Given the description of an element on the screen output the (x, y) to click on. 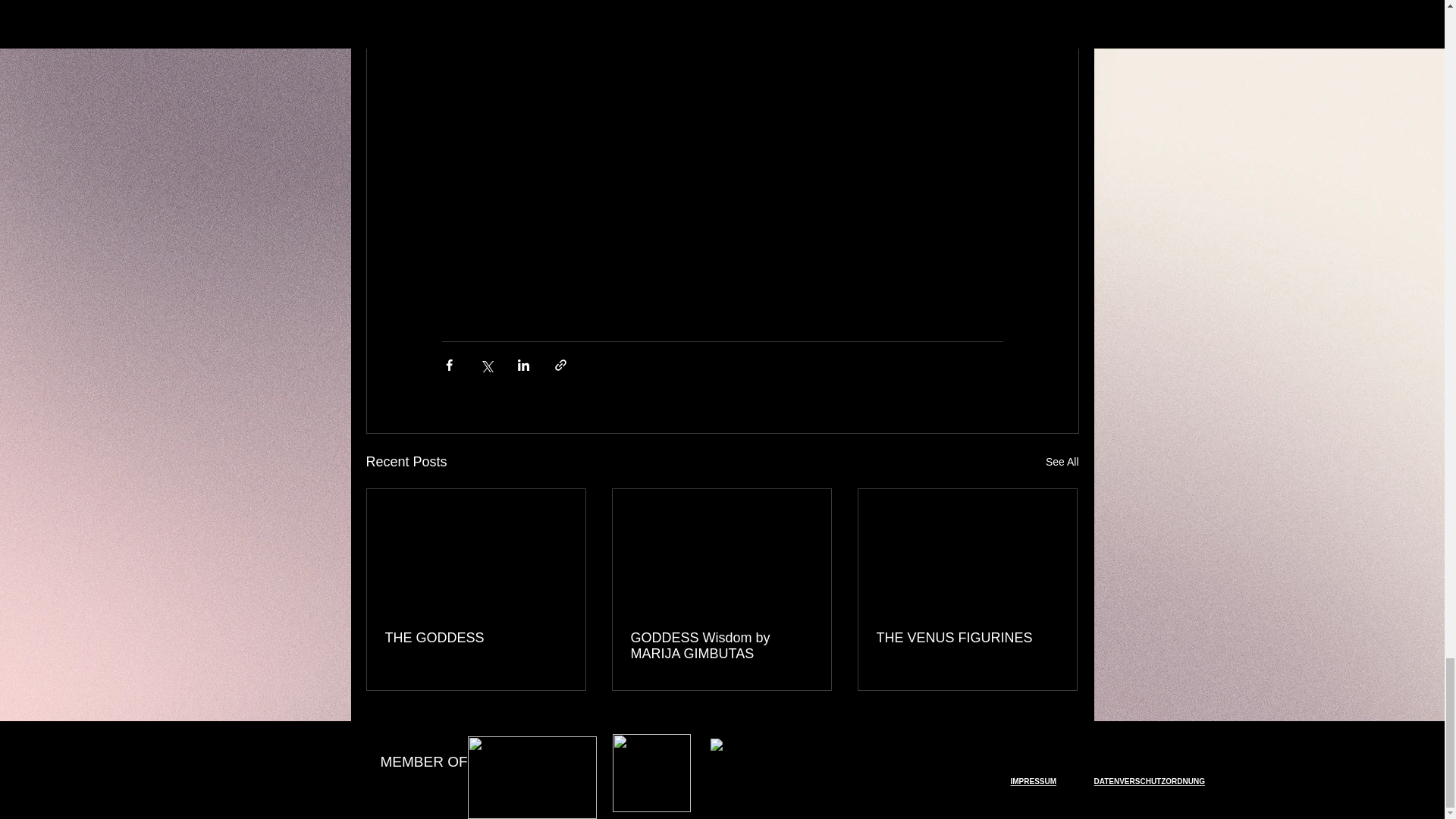
GODDESS Wisdom by MARIJA GIMBUTAS (721, 645)
IMPRESSUM (1033, 781)
DATENVERSCHUTZORDNUNG (1148, 781)
See All (1061, 462)
THE GODDESS (476, 637)
THE VENUS FIGURINES (967, 637)
